Given the description of an element on the screen output the (x, y) to click on. 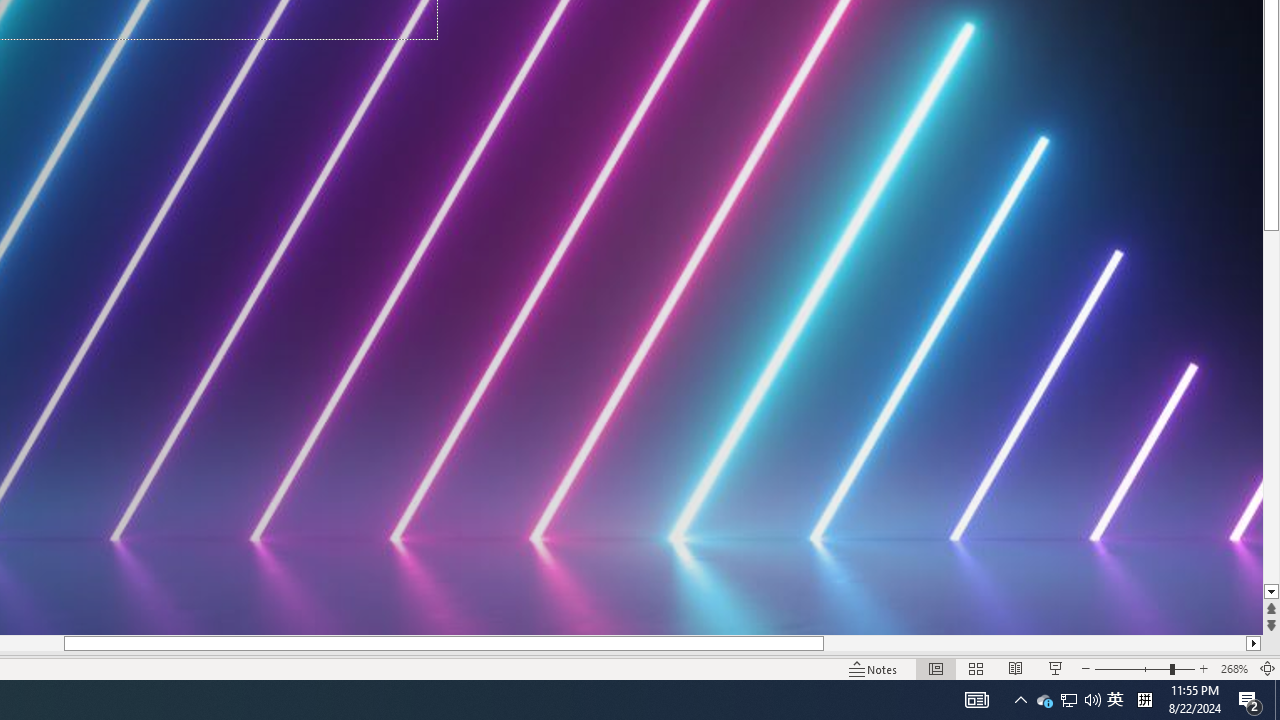
Zoom 268% (1234, 668)
